Given the description of an element on the screen output the (x, y) to click on. 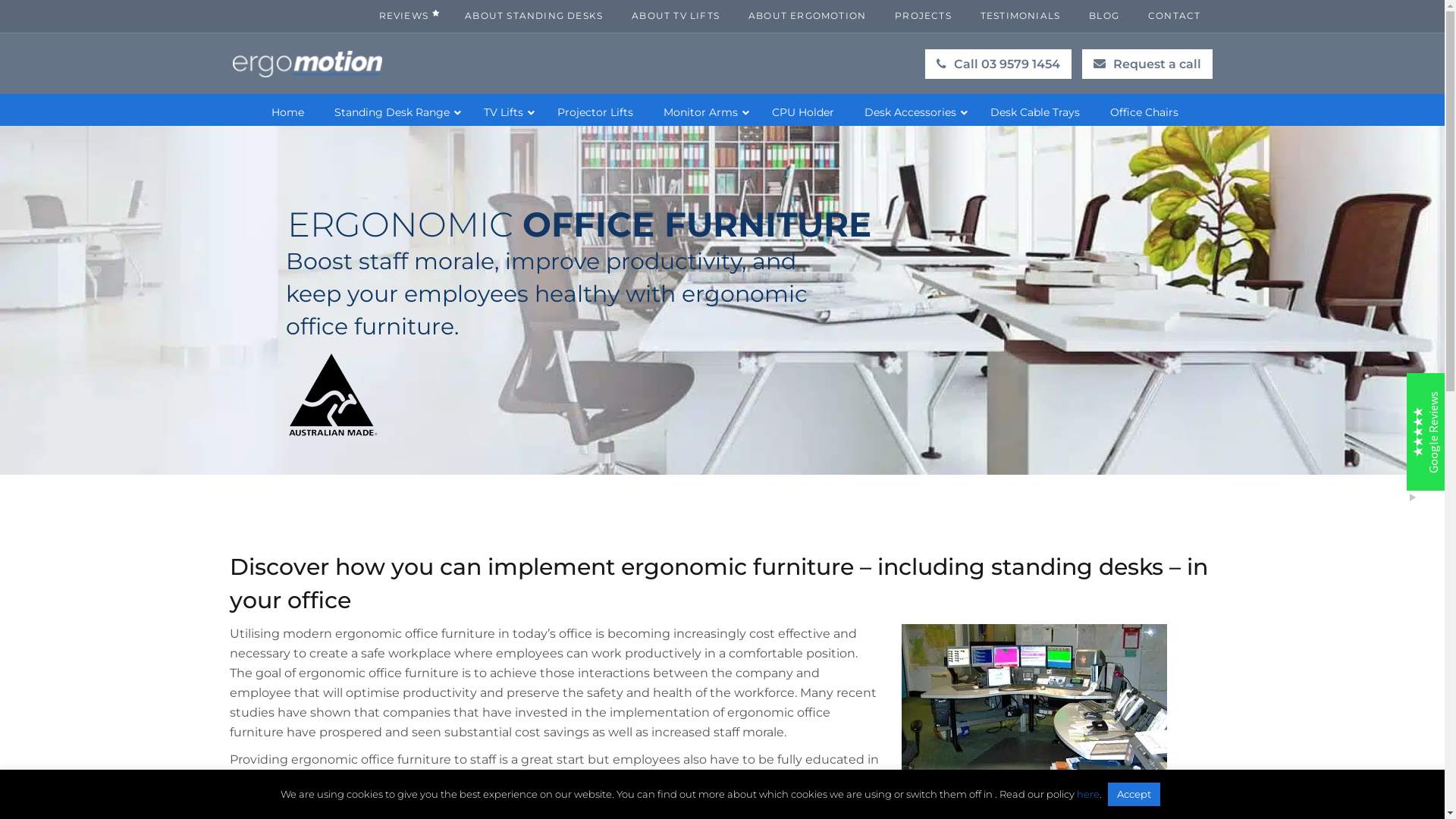
TESTIMONIALS Element type: text (1020, 15)
Home Element type: text (287, 112)
sit-stand Element type: text (377, 798)
Accept Element type: text (1133, 794)
Desk Cable Trays Element type: text (1035, 112)
Projector Lifts Element type: text (594, 112)
ABOUT STANDING DESKS Element type: text (533, 15)
PROJECTS Element type: text (923, 15)
Call 03 9579 1454 Element type: text (998, 63)
Request a call Element type: text (1146, 63)
Standing Desk Australia Element type: hover (306, 63)
BLOG Element type: text (1103, 15)
REVIEWS Element type: text (407, 15)
Desk Accessories Element type: text (912, 112)
Standing Desk Range Element type: text (392, 112)
TV Lifts Element type: text (505, 112)
Monitor Arms Element type: text (701, 112)
Office Chairs Element type: text (1144, 112)
CONTACT Element type: text (1173, 15)
ABOUT TV LIFTS Element type: text (675, 15)
here Element type: text (1087, 793)
CPU Holder Element type: text (802, 112)
ABOUT ERGOMOTION Element type: text (807, 15)
